Given the description of an element on the screen output the (x, y) to click on. 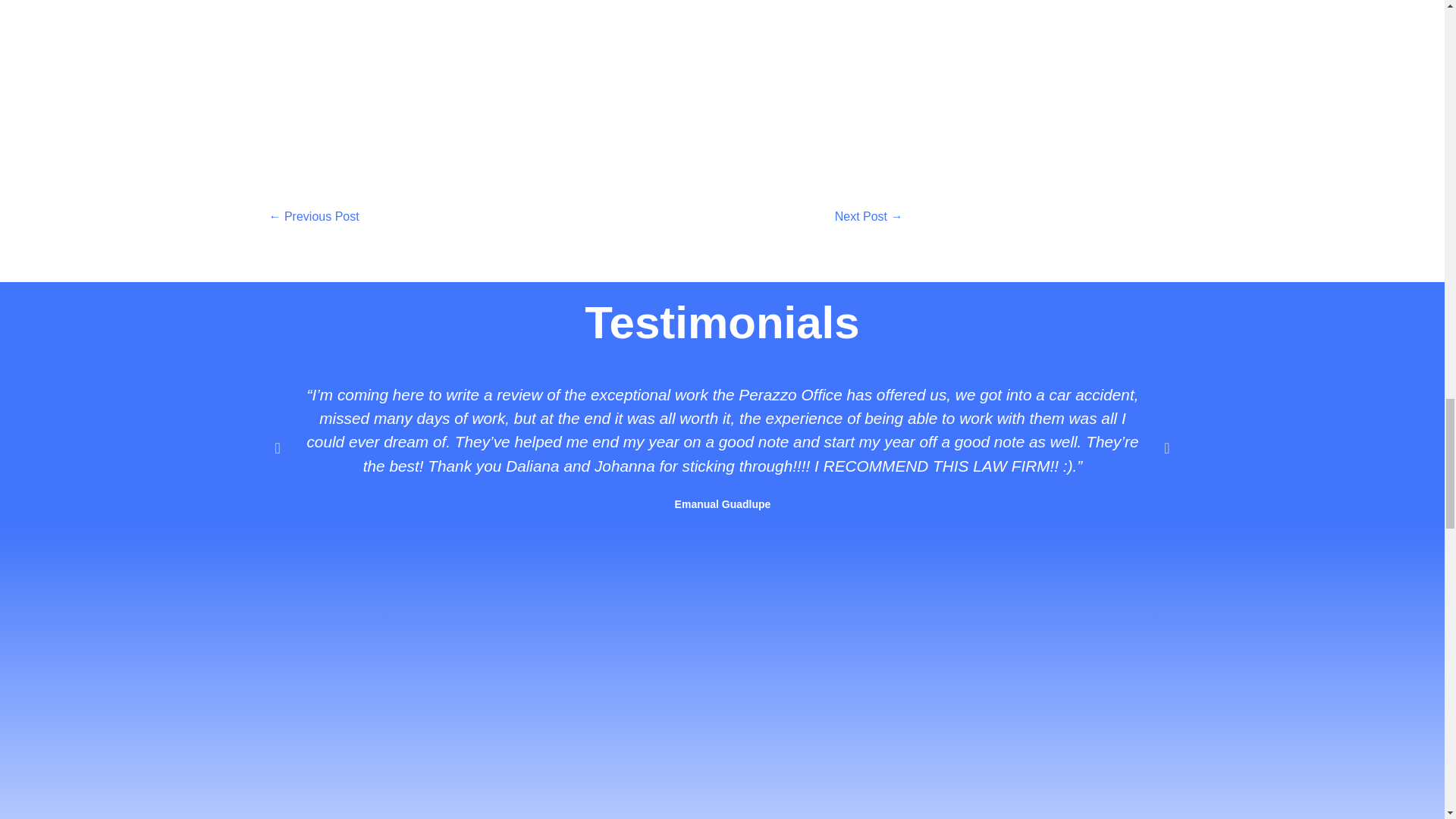
What To Do After A Motorcycle Accident (312, 217)
